Given the description of an element on the screen output the (x, y) to click on. 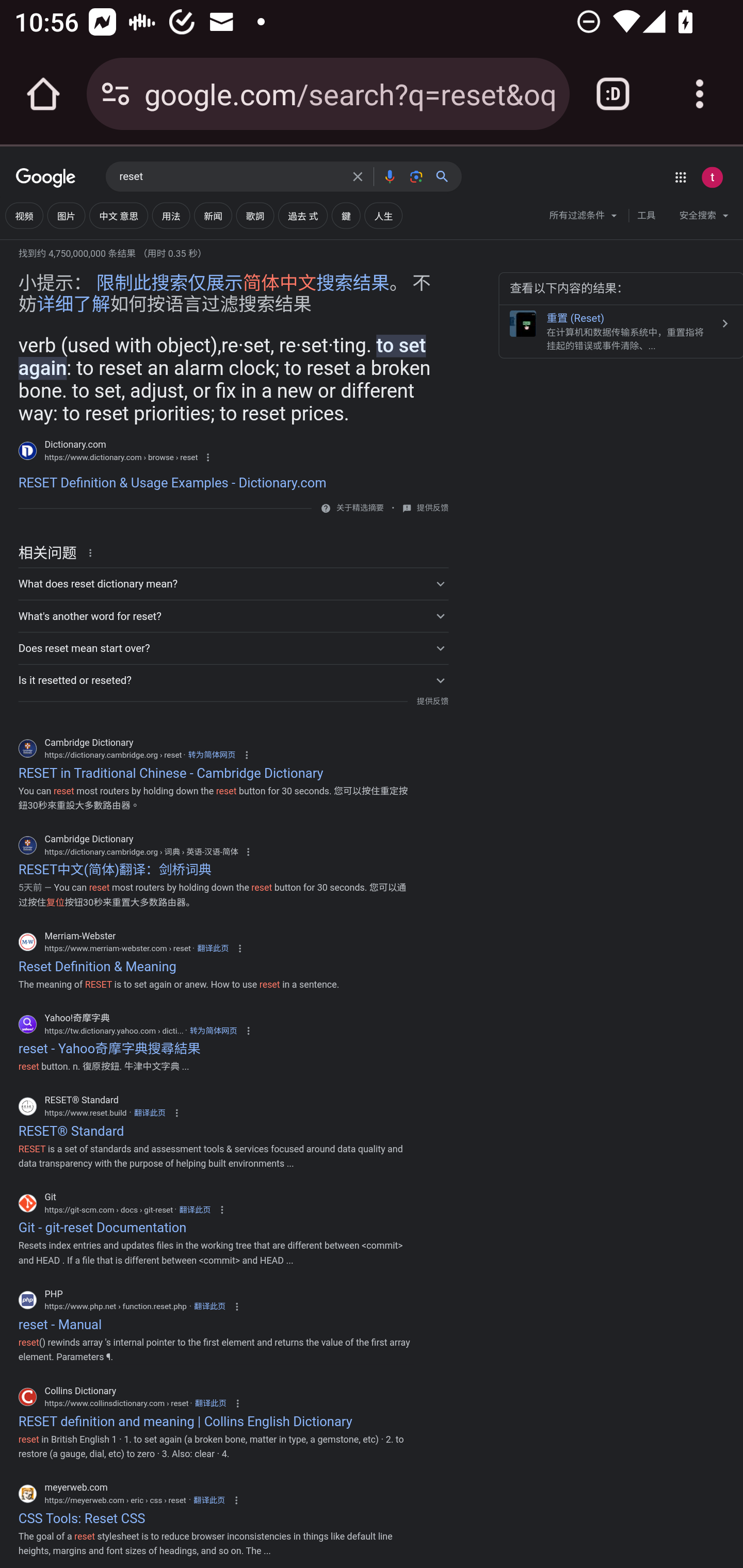
Open the home page (43, 93)
Connection is secure (115, 93)
Switch or close tabs (612, 93)
Customize and control Google Chrome (699, 93)
清除 (357, 176)
按语音搜索 (389, 176)
按图搜索 (415, 176)
搜索 (446, 176)
Google 应用 (680, 176)
Google 账号： test appium (testappium002@gmail.com) (712, 176)
Google (45, 178)
reset (229, 177)
视频 (24, 215)
图片 (65, 215)
添加“中文 意思” 中文 意思 (117, 215)
添加“用法” 用法 (170, 215)
新闻 (212, 215)
添加“歌詞” 歌詞 (254, 215)
添加“過去 式” 過去 式 (302, 215)
添加“鍵” 鍵 (345, 215)
添加“人生” 人生 (383, 215)
所有过滤条件 (583, 217)
工具 (646, 215)
安全搜索 (703, 217)
限制此搜索仅展示简体中文搜索结果 限制此搜索仅展示 简体中文 搜索结果 (242, 283)
详细了解 (73, 304)
关于精选摘要 (359, 507)
提供反馈 (432, 508)
关于这条结果的详细信息 (93, 552)
What does reset dictionary mean? (232, 583)
What's another word for reset? (232, 615)
Does reset mean start over? (232, 647)
Is it resetted or reseted? (232, 679)
提供反馈 (432, 700)
转为简体网页 (211, 754)
翻译此页 (212, 948)
转为简体网页 (212, 1029)
翻译此页 (149, 1113)
翻译此页 (194, 1209)
翻译此页 (209, 1306)
翻译此页 (210, 1403)
翻译此页 (209, 1500)
